Given the description of an element on the screen output the (x, y) to click on. 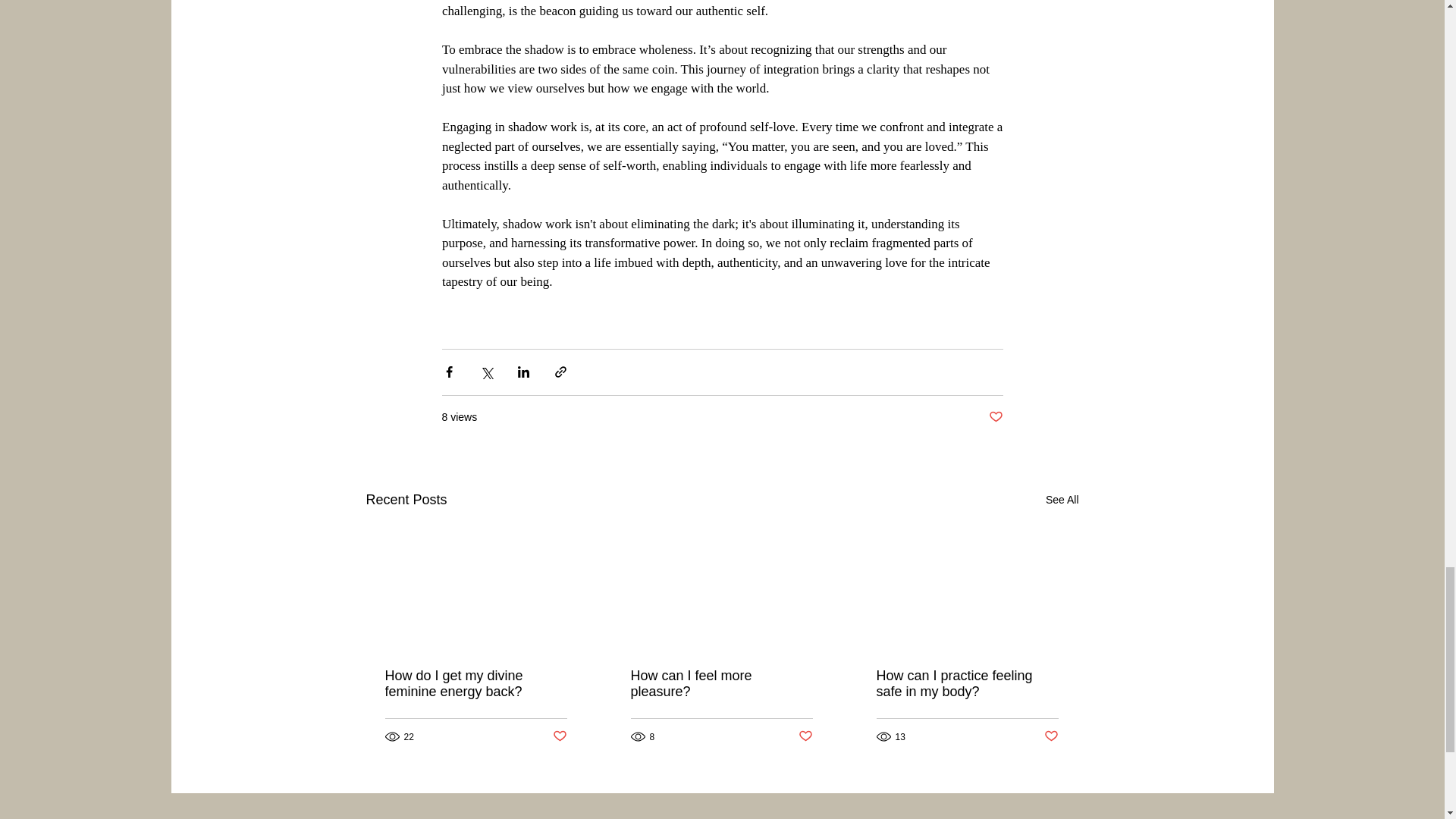
How do I get my divine feminine energy back? (476, 684)
Post not marked as liked (804, 736)
Post not marked as liked (1050, 736)
How can I practice feeling safe in my body? (967, 684)
Post not marked as liked (995, 417)
See All (1061, 499)
Post not marked as liked (558, 736)
How can I feel more pleasure? (721, 684)
